Given the description of an element on the screen output the (x, y) to click on. 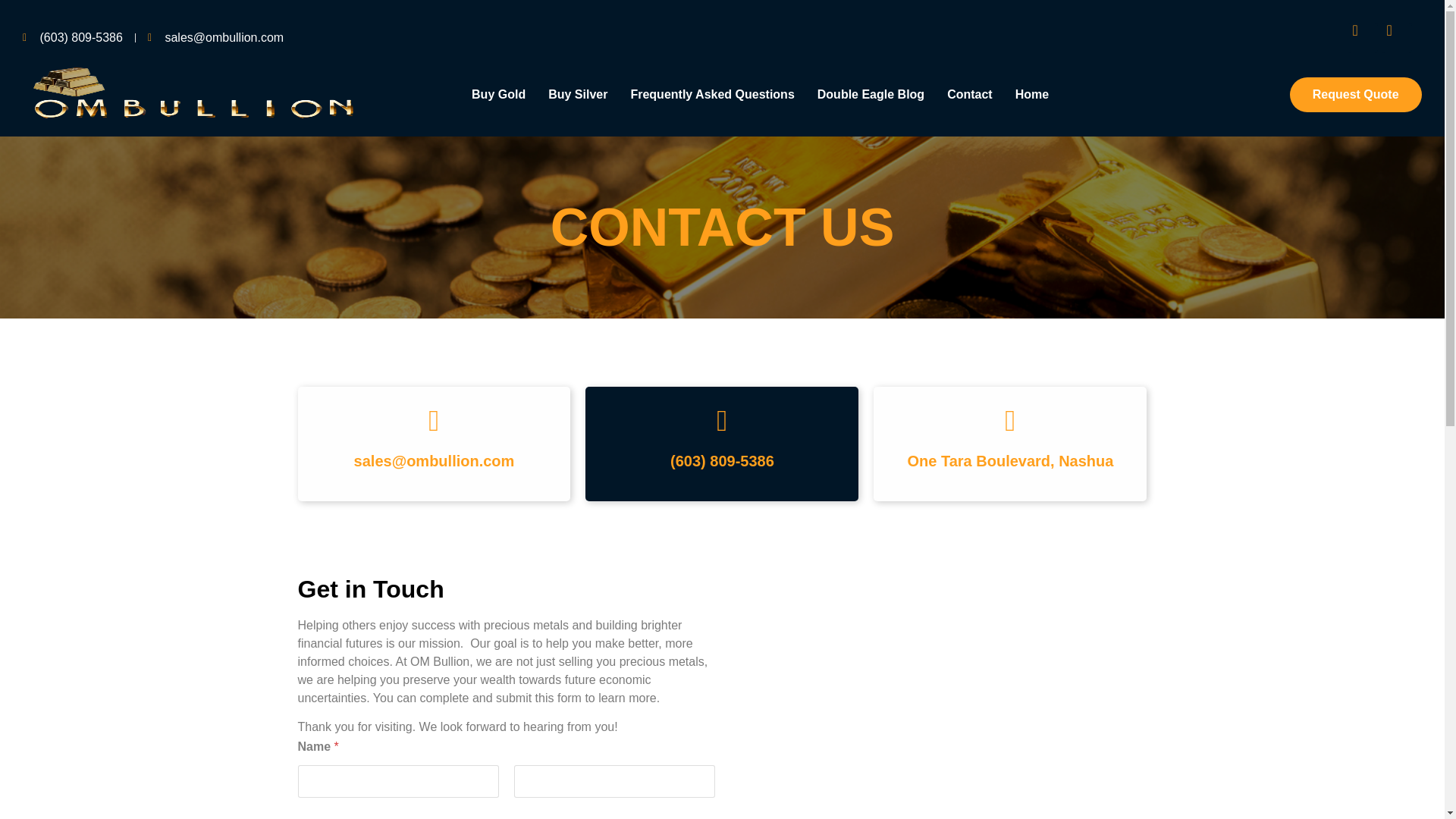
Contact (970, 94)
Double Eagle Blog (871, 94)
Frequently Asked Questions (711, 94)
Request Quote (1356, 94)
One tara boulevard, nashua (938, 723)
Home (1031, 94)
Buy Silver (577, 94)
Buy Gold (498, 94)
One Tara Boulevard, Nashua (1010, 460)
